Given the description of an element on the screen output the (x, y) to click on. 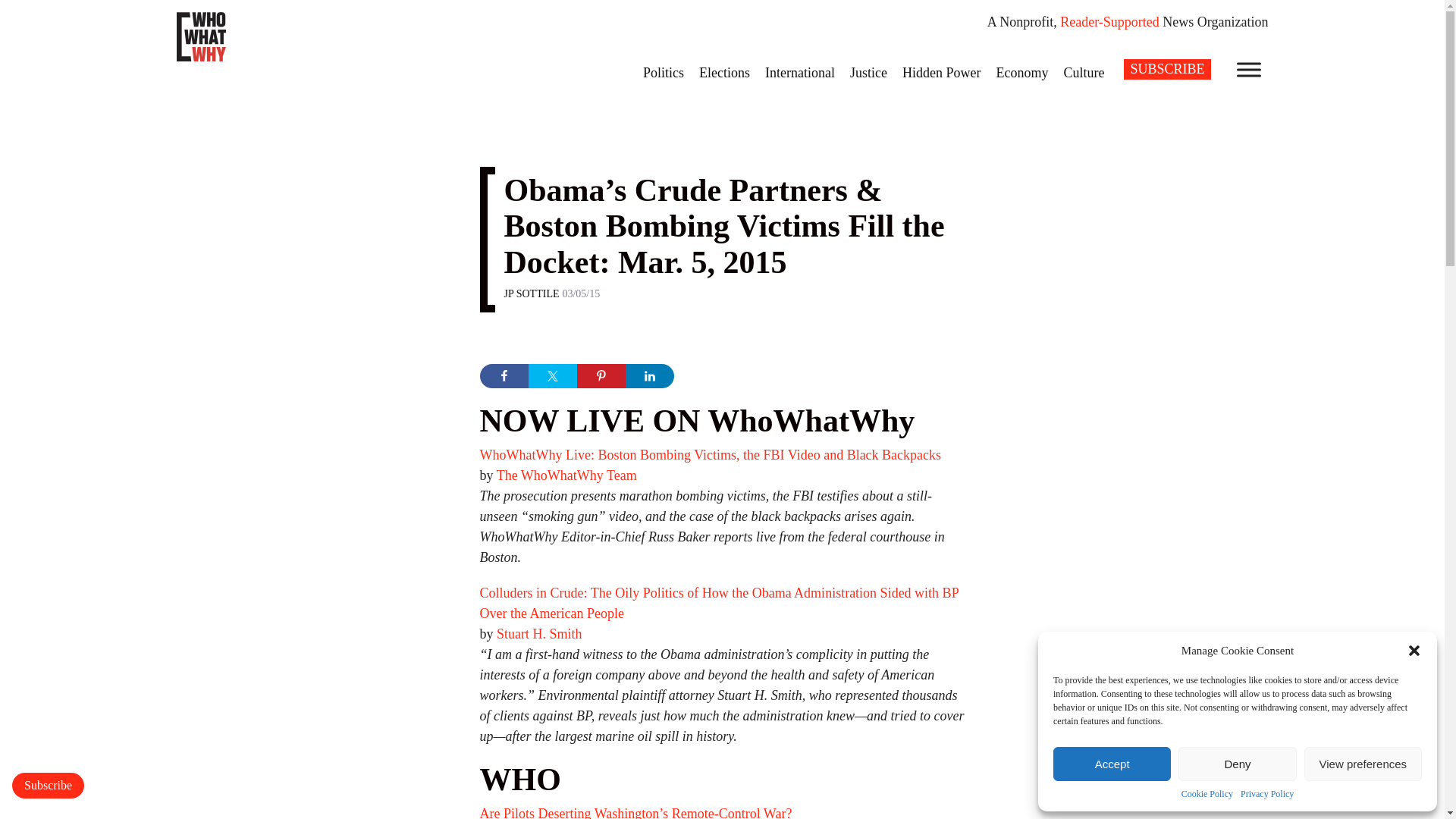
Reader-Supported (1108, 21)
Posts by The WhoWhatWhy Team (566, 475)
Search (21, 7)
Share on Facebook (503, 375)
Economy (1021, 72)
Cookie Policy (1206, 794)
Politics (662, 72)
Posts by JP Sottile (531, 293)
Elections (724, 72)
Hidden Power (941, 72)
Donate (47, 785)
Justice (869, 72)
Subscribe (47, 785)
Share on Twitter (551, 375)
Privacy Policy (1267, 794)
